Given the description of an element on the screen output the (x, y) to click on. 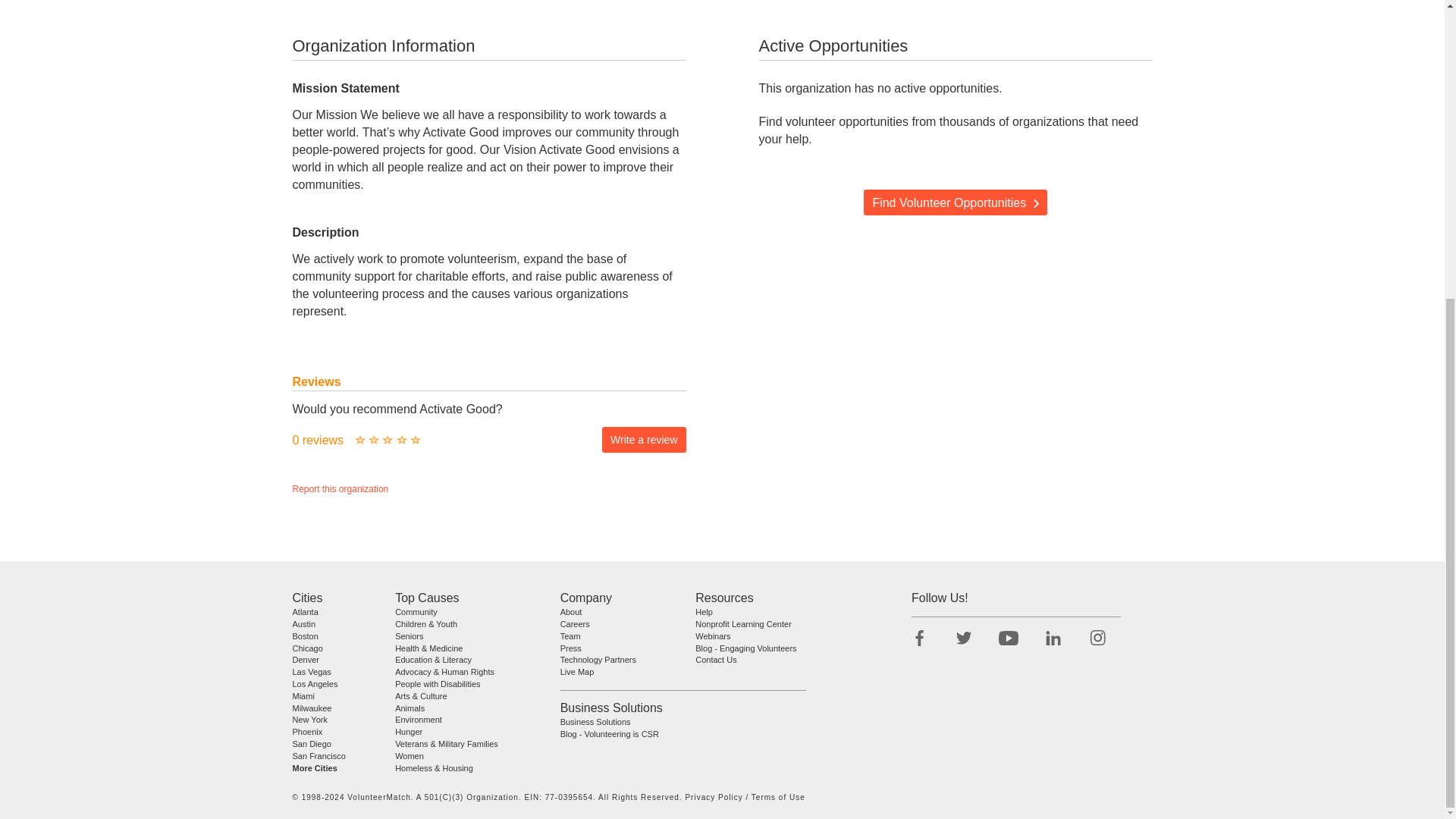
Austin (303, 623)
Atlanta (305, 611)
Write a review (643, 439)
Chicago (307, 646)
Find Volunteer Opportunities (954, 202)
Boston (305, 634)
Las Vegas (311, 671)
Los Angeles (314, 683)
Report this organization (340, 489)
Denver (305, 659)
Opens a widget where you can find more information (57, 329)
